Given the description of an element on the screen output the (x, y) to click on. 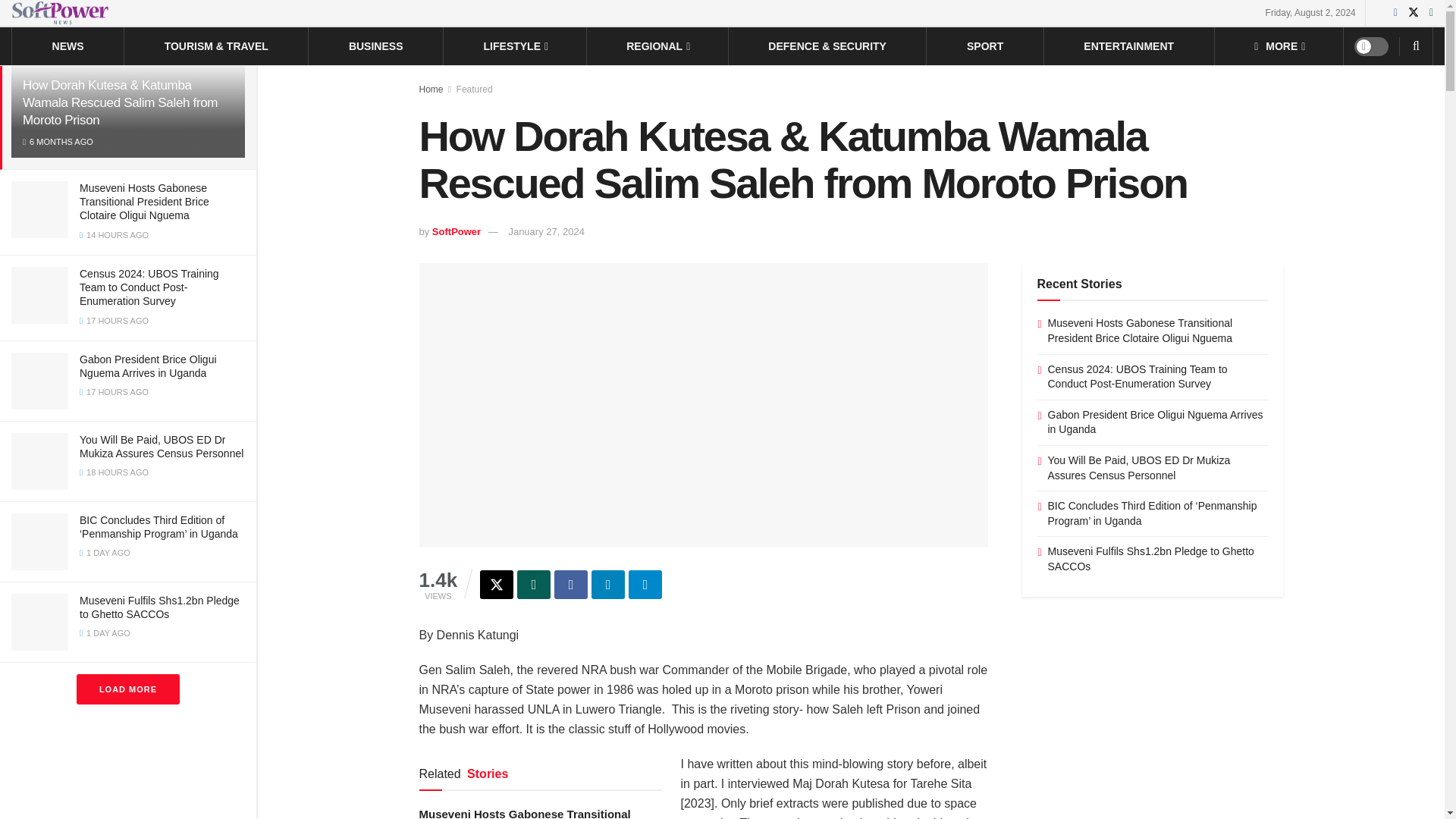
LOAD MORE (128, 689)
Museveni Fulfils Shs1.2bn Pledge to Ghetto SACCOs (160, 606)
Gabon President Brice Oligui Nguema Arrives in Uganda (148, 365)
SPORT (984, 46)
NEWS (68, 46)
LIFESTYLE (515, 46)
MORE (1278, 46)
BUSINESS (376, 46)
REGIONAL (656, 46)
